Given the description of an element on the screen output the (x, y) to click on. 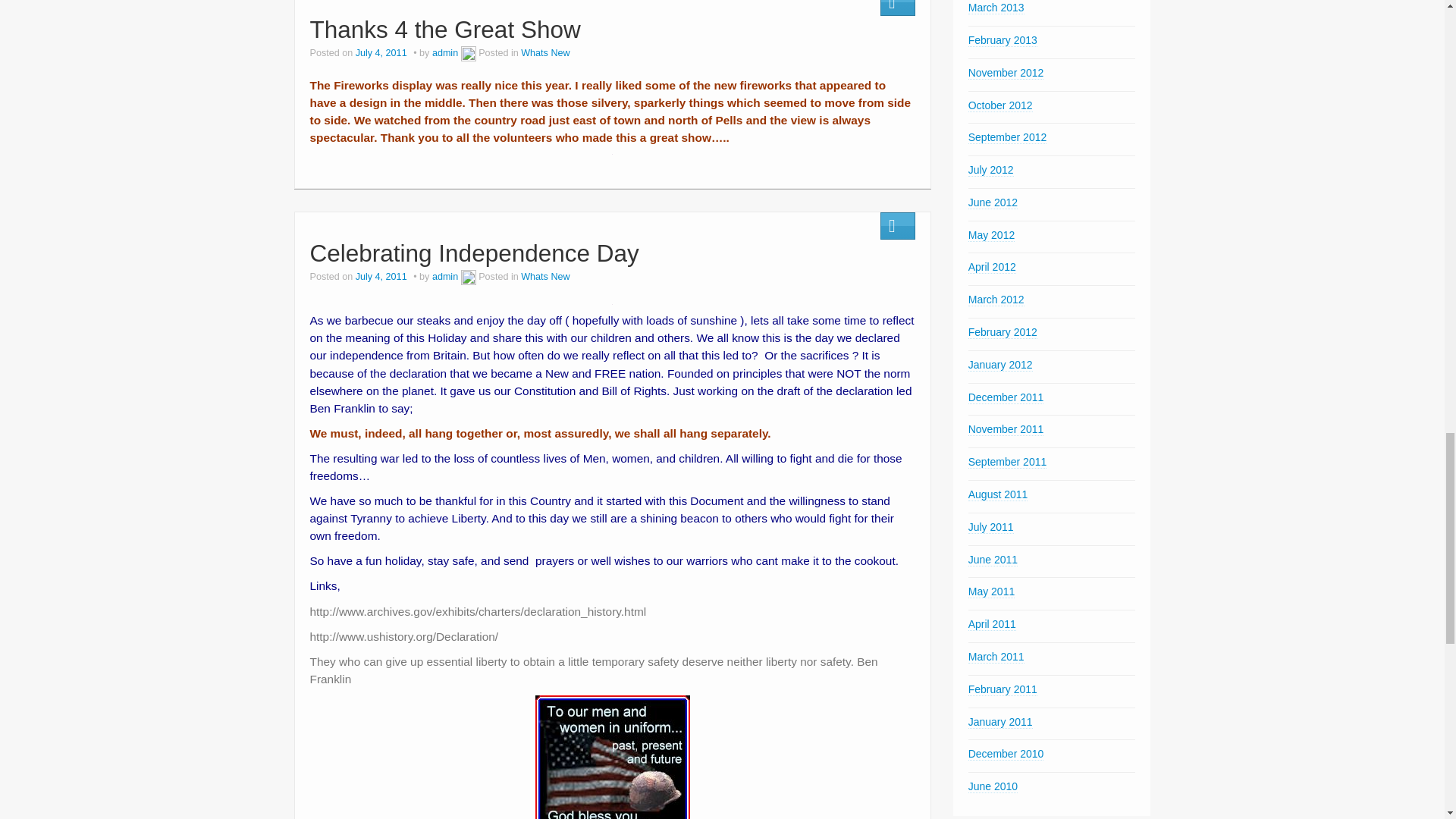
admin (445, 52)
Thanks 4 the Great Show (443, 29)
Whats New (545, 52)
July 4, 2011 (382, 52)
Celebrating Independence Day (473, 252)
